Given the description of an element on the screen output the (x, y) to click on. 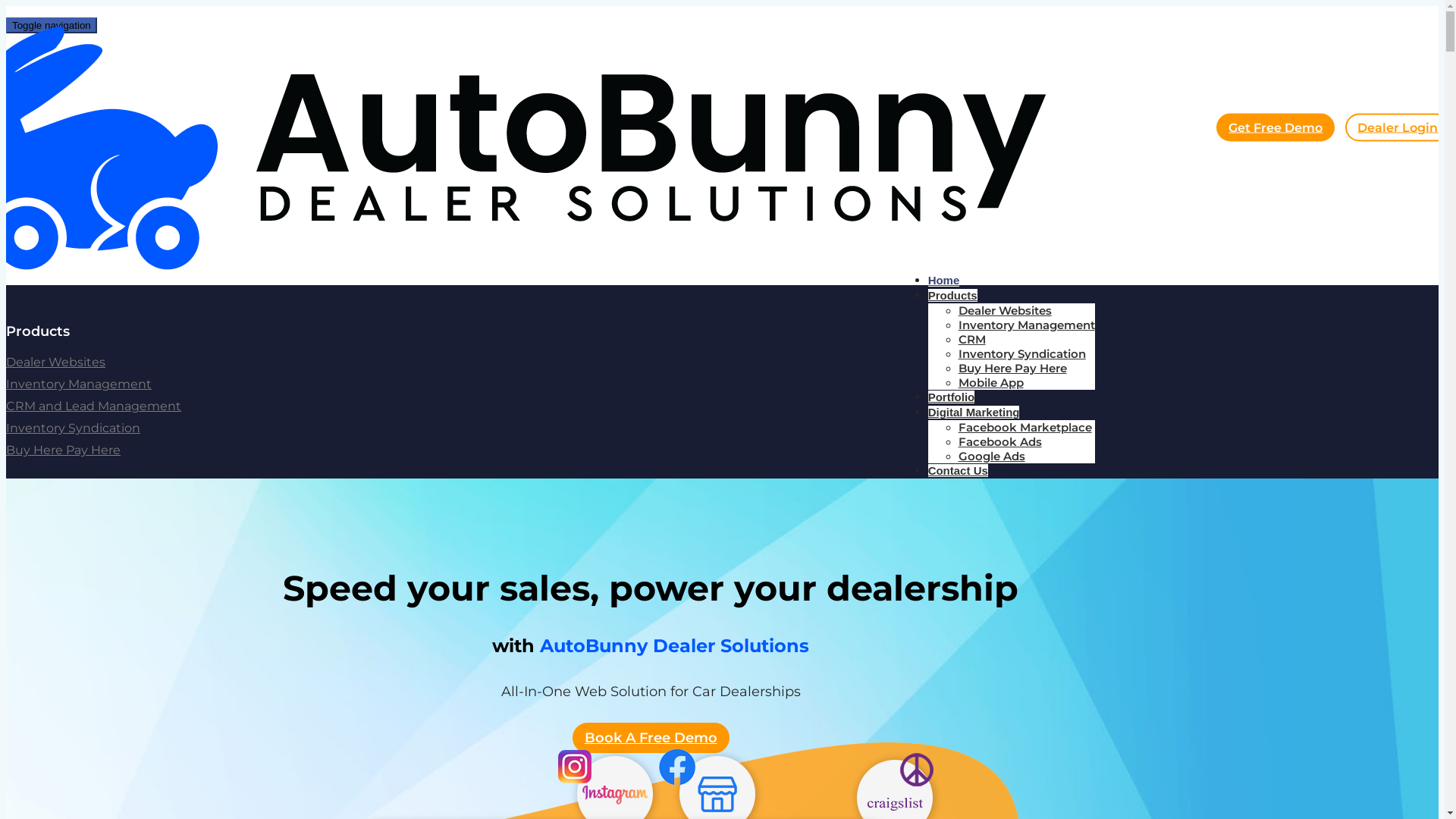
Facebook Ads Element type: text (999, 441)
Inventory Syndication Element type: text (73, 427)
Mobile App Element type: text (990, 382)
Dealer Login Element type: text (1397, 127)
Dealer Websites Element type: text (55, 361)
Inventory Management Element type: text (1026, 324)
Home Element type: text (944, 279)
Products Element type: text (952, 294)
Buy Here Pay Here Element type: text (1012, 367)
Facebook Marketplace Element type: text (1025, 427)
Google Ads Element type: text (991, 455)
Inventory Management Element type: text (78, 383)
Portfolio Element type: text (951, 396)
CRM Element type: text (971, 339)
Toggle navigation Element type: text (51, 25)
Contact Us Element type: text (958, 470)
Inventory Syndication Element type: text (1021, 353)
Digital Marketing Element type: text (973, 411)
CRM and Lead Management Element type: text (93, 405)
Buy Here Pay Here Element type: text (63, 449)
Get Free Demo Element type: text (1275, 127)
Dealer Websites Element type: text (1004, 310)
Book A Free Demo Element type: text (650, 737)
